Given the description of an element on the screen output the (x, y) to click on. 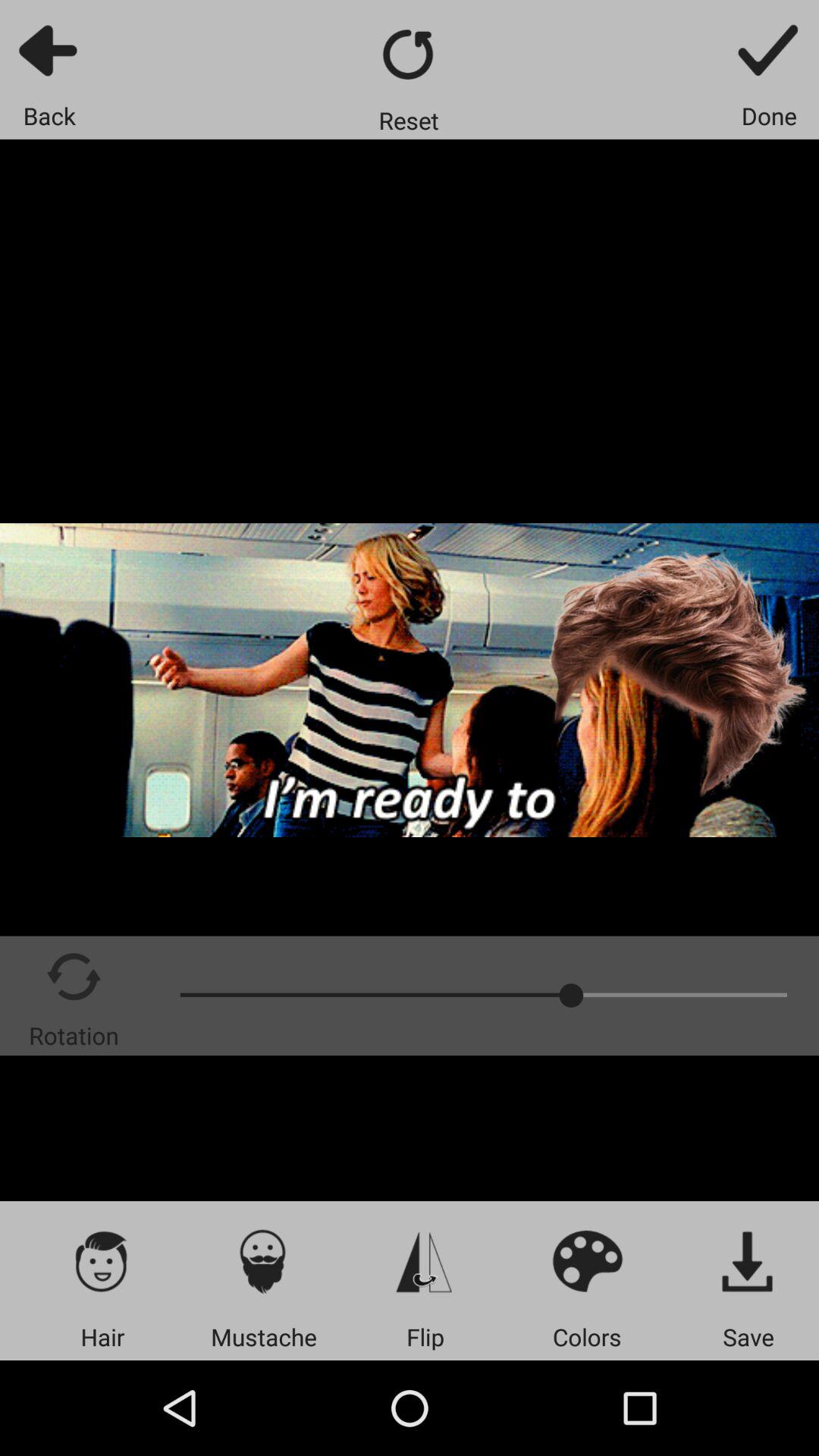
save image (748, 1260)
